Given the description of an element on the screen output the (x, y) to click on. 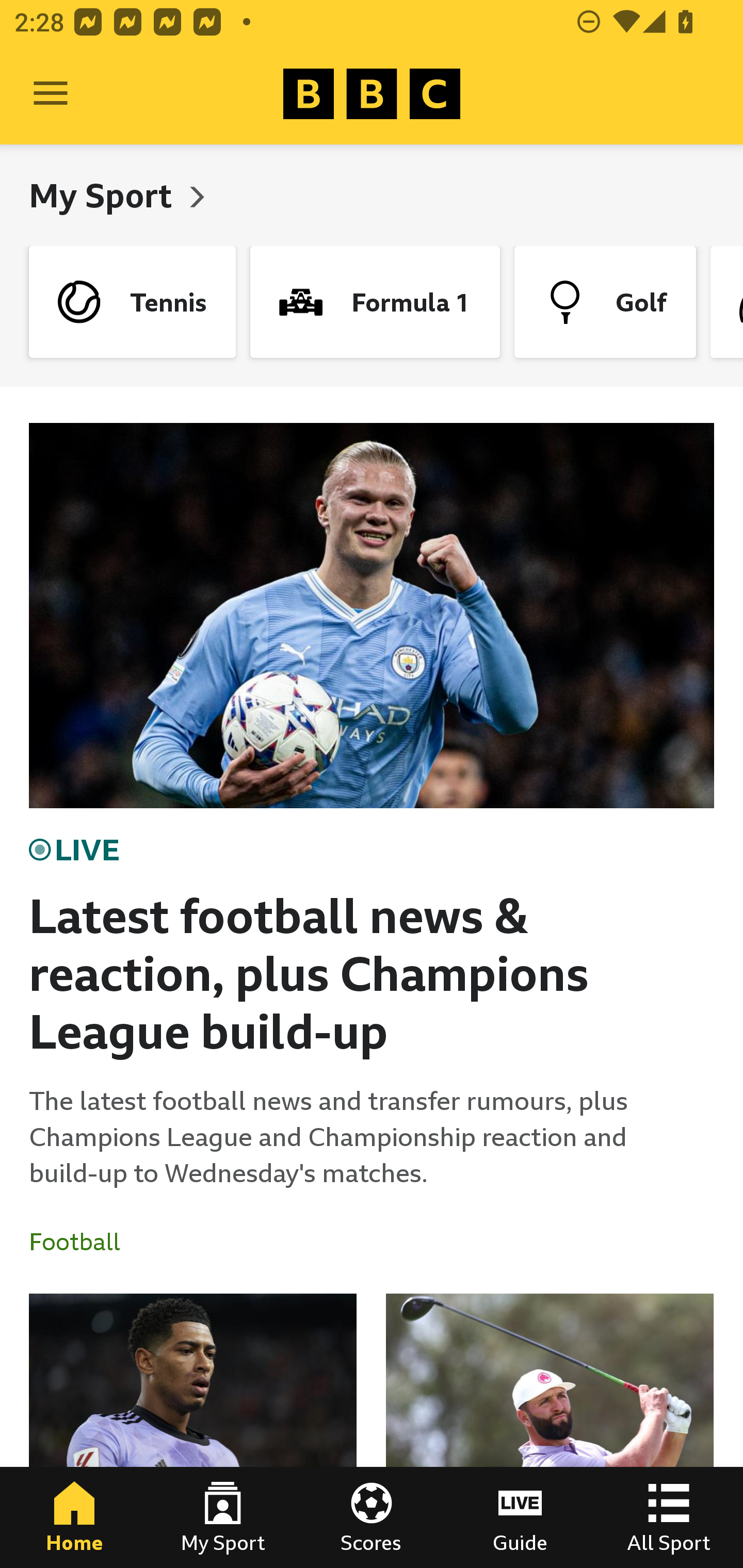
Open Menu (50, 93)
My Sport (104, 195)
Football In the section Football (81, 1241)
Real midfielder Bellingham banned for two games (192, 1430)
My Sport (222, 1517)
Scores (371, 1517)
Guide (519, 1517)
All Sport (668, 1517)
